Given the description of an element on the screen output the (x, y) to click on. 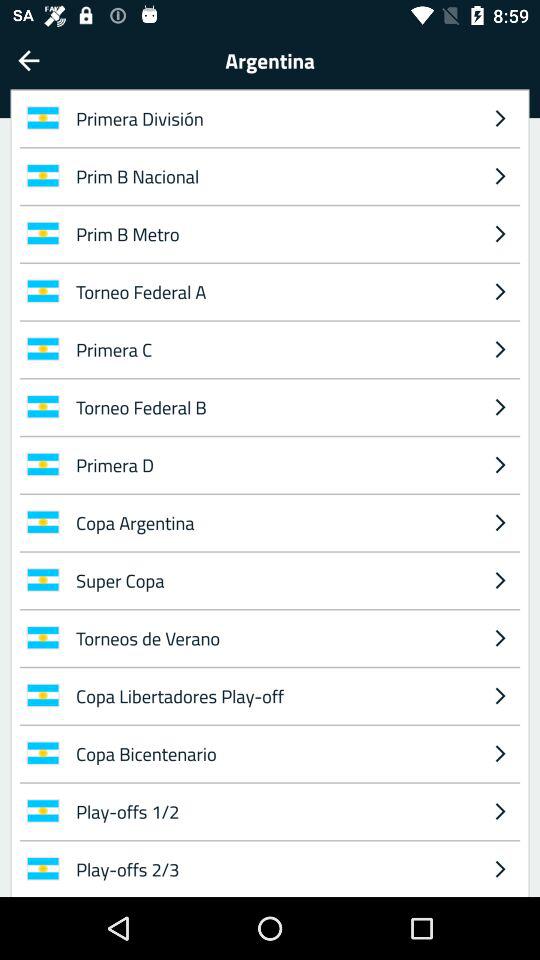
launch the icon to the right of copa bicentenario (500, 811)
